Given the description of an element on the screen output the (x, y) to click on. 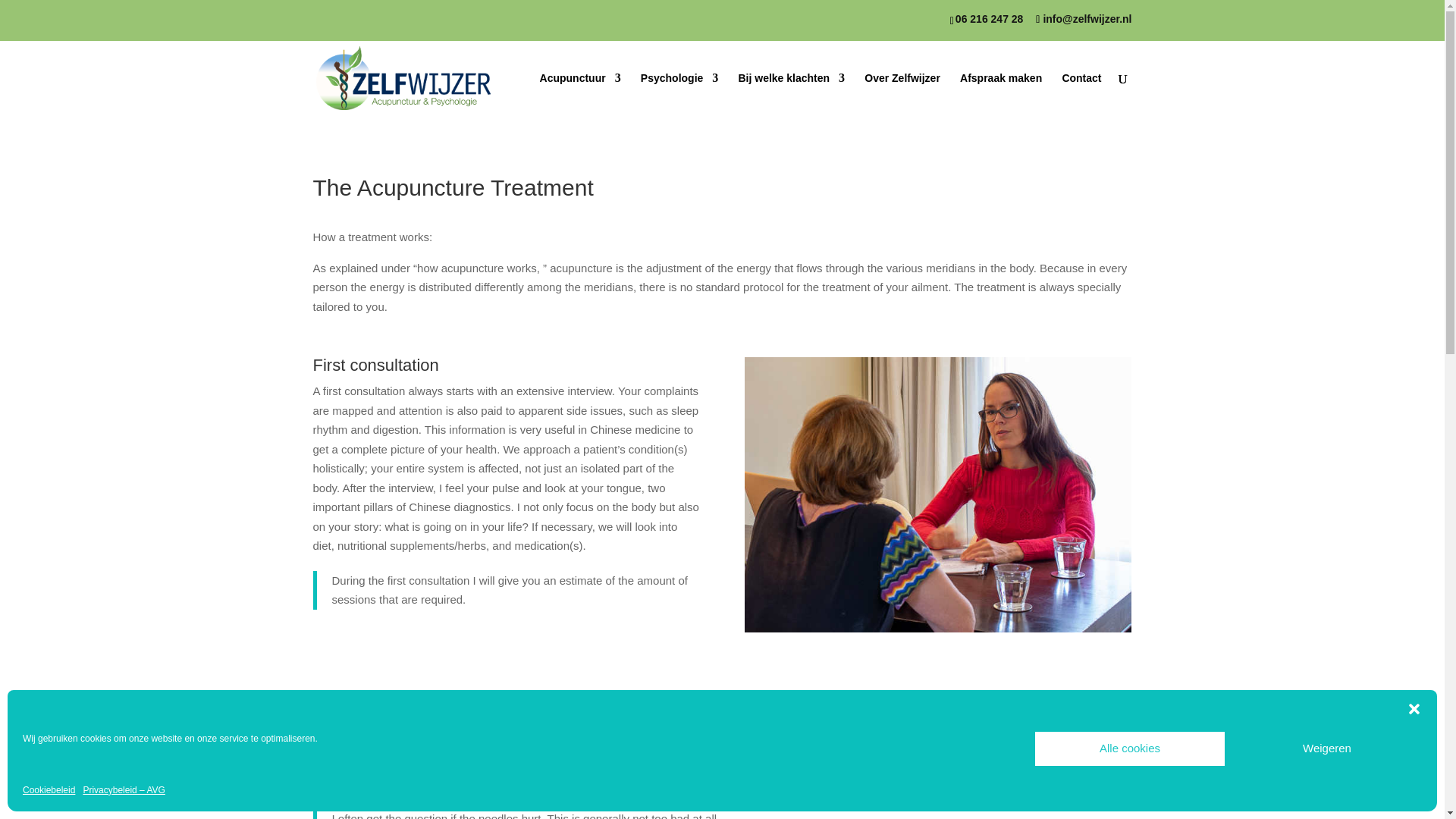
Contact (1080, 93)
Over Zelfwijzer (902, 93)
Bij welke klachten (791, 93)
Alle cookies (1129, 747)
Weigeren (1326, 747)
Afspraak maken (1000, 93)
Acupunctuur (580, 93)
Psychologie (678, 93)
Cookiebeleid (49, 790)
